Given the description of an element on the screen output the (x, y) to click on. 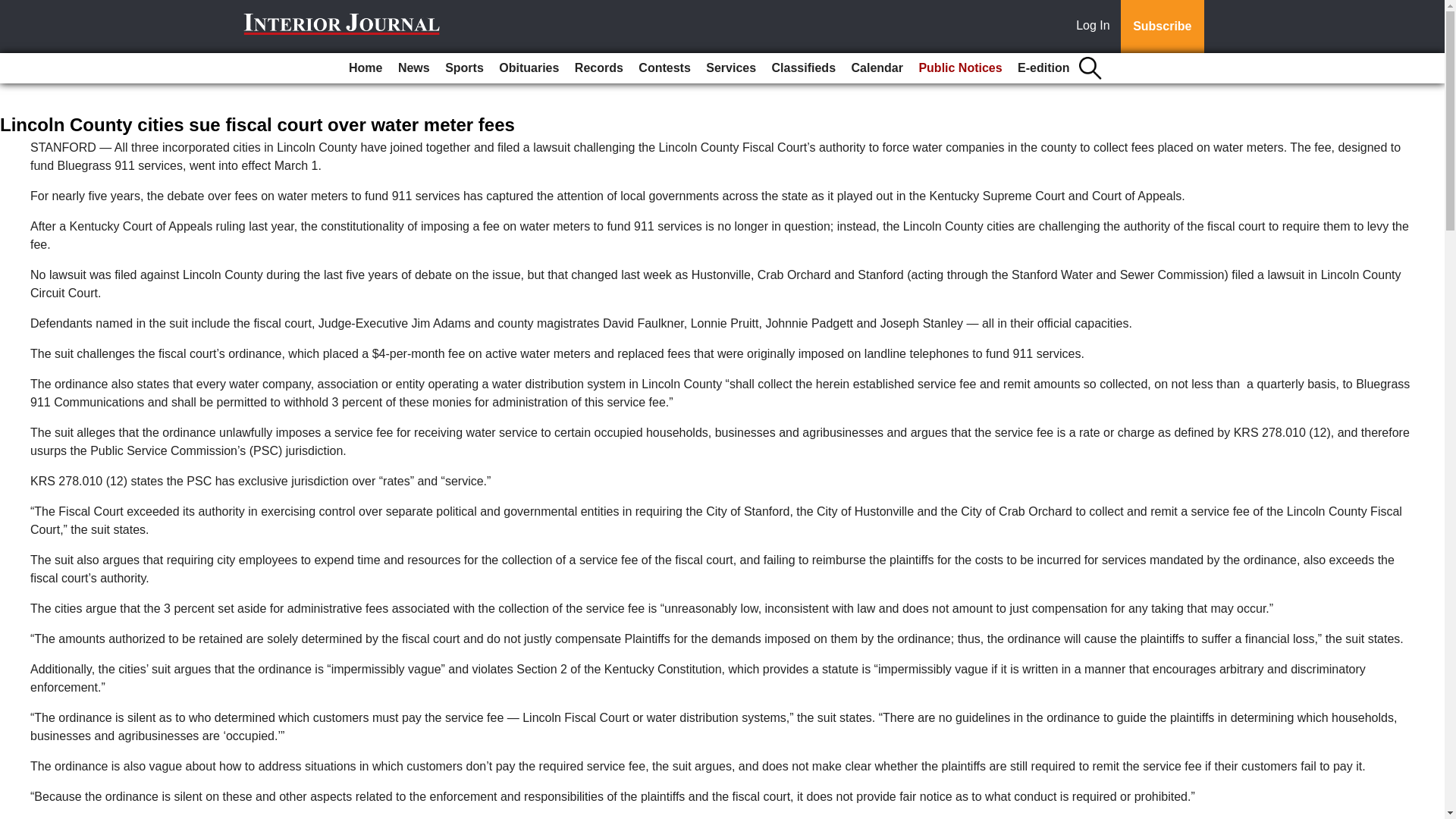
Contests (663, 68)
E-edition (1043, 68)
Home (365, 68)
News (413, 68)
Classifieds (803, 68)
Public Notices (959, 68)
Records (598, 68)
Services (730, 68)
Subscribe (1162, 26)
Obituaries (528, 68)
Log In (1095, 26)
Sports (464, 68)
Go (13, 9)
Calendar (876, 68)
